Given the description of an element on the screen output the (x, y) to click on. 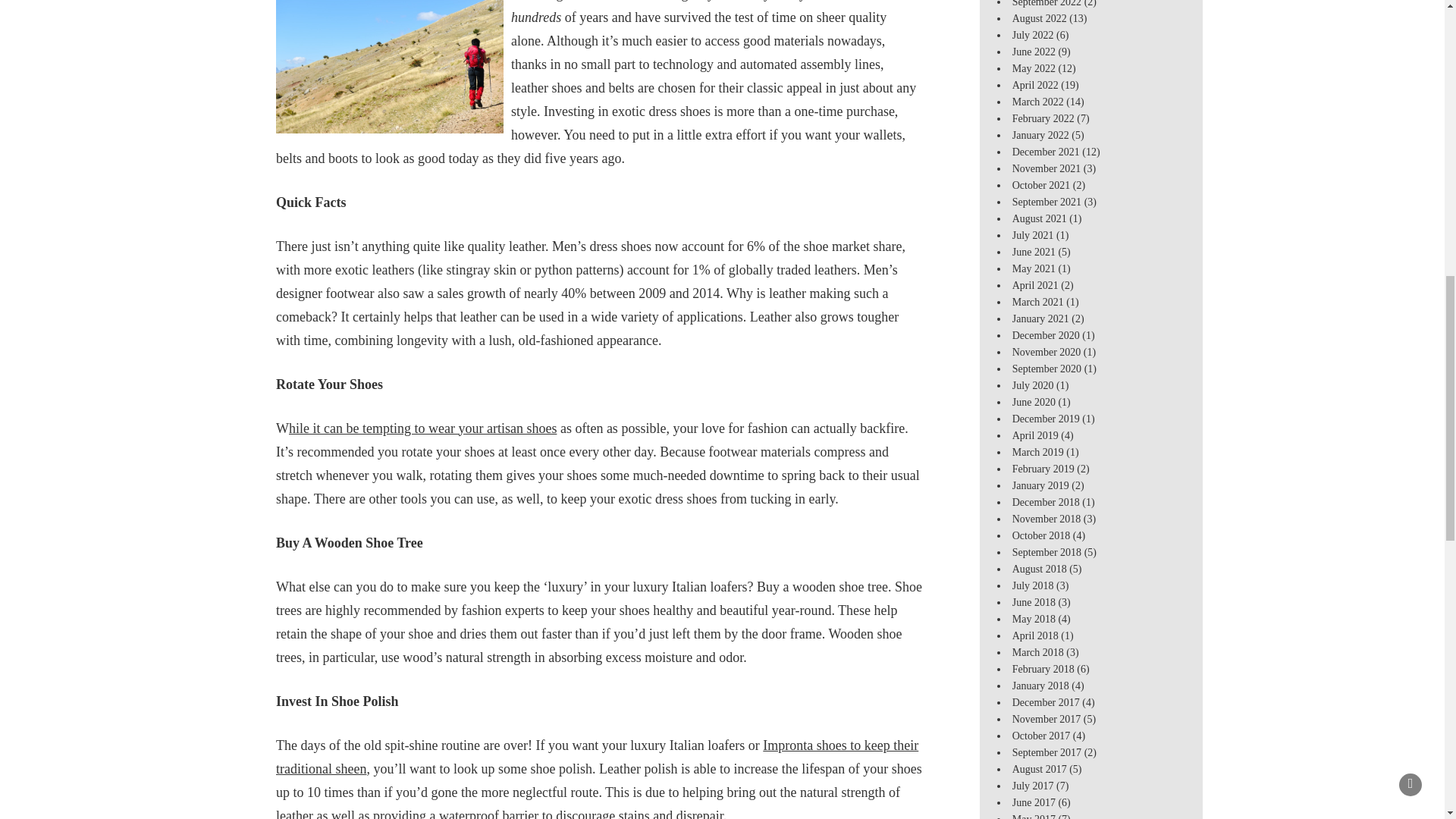
hile it can be tempting to wear your artisan shoes (422, 427)
more (422, 427)
Impronta shoes to keep their traditional sheen (597, 756)
Great stuff (597, 756)
